Given the description of an element on the screen output the (x, y) to click on. 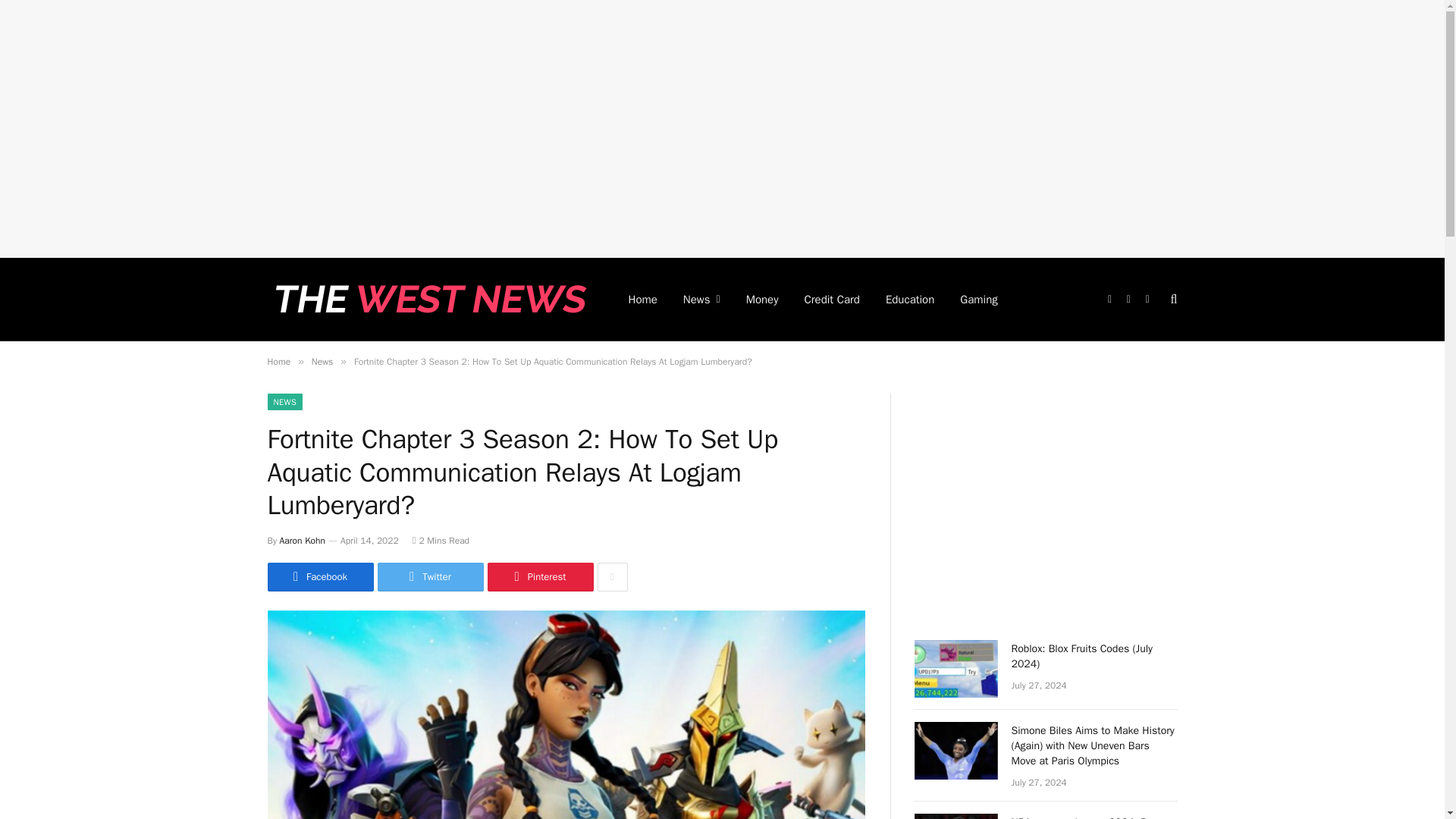
Home (277, 361)
Education (909, 299)
Credit Card (832, 299)
NEWS (284, 401)
Facebook (319, 576)
Pinterest (539, 576)
Twitter (430, 576)
Share on Facebook (319, 576)
Aaron Kohn (301, 540)
Show More Social Sharing (611, 576)
Share on Pinterest (539, 576)
The West News (427, 299)
News (322, 361)
